Given the description of an element on the screen output the (x, y) to click on. 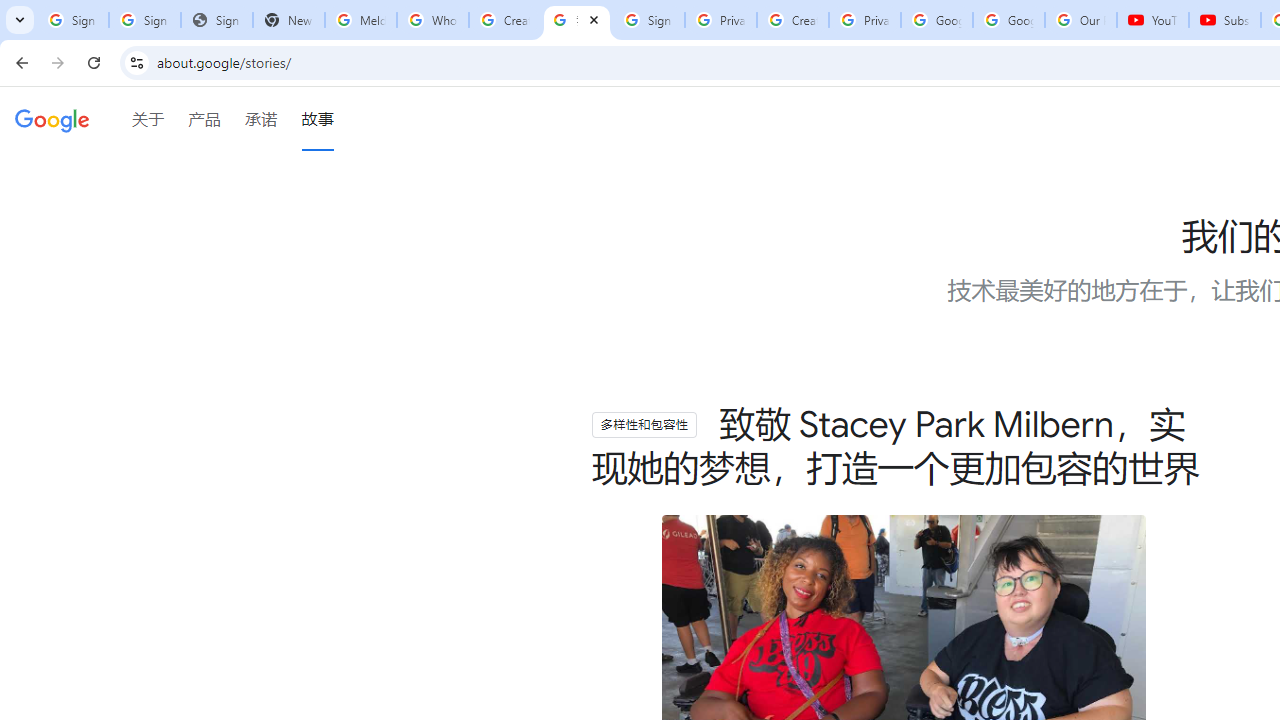
Sign In - USA TODAY (216, 20)
Google (52, 121)
Who is my administrator? - Google Account Help (432, 20)
Sign in - Google Accounts (144, 20)
Create your Google Account (792, 20)
New Tab (289, 20)
Google Account (1008, 20)
